Given the description of an element on the screen output the (x, y) to click on. 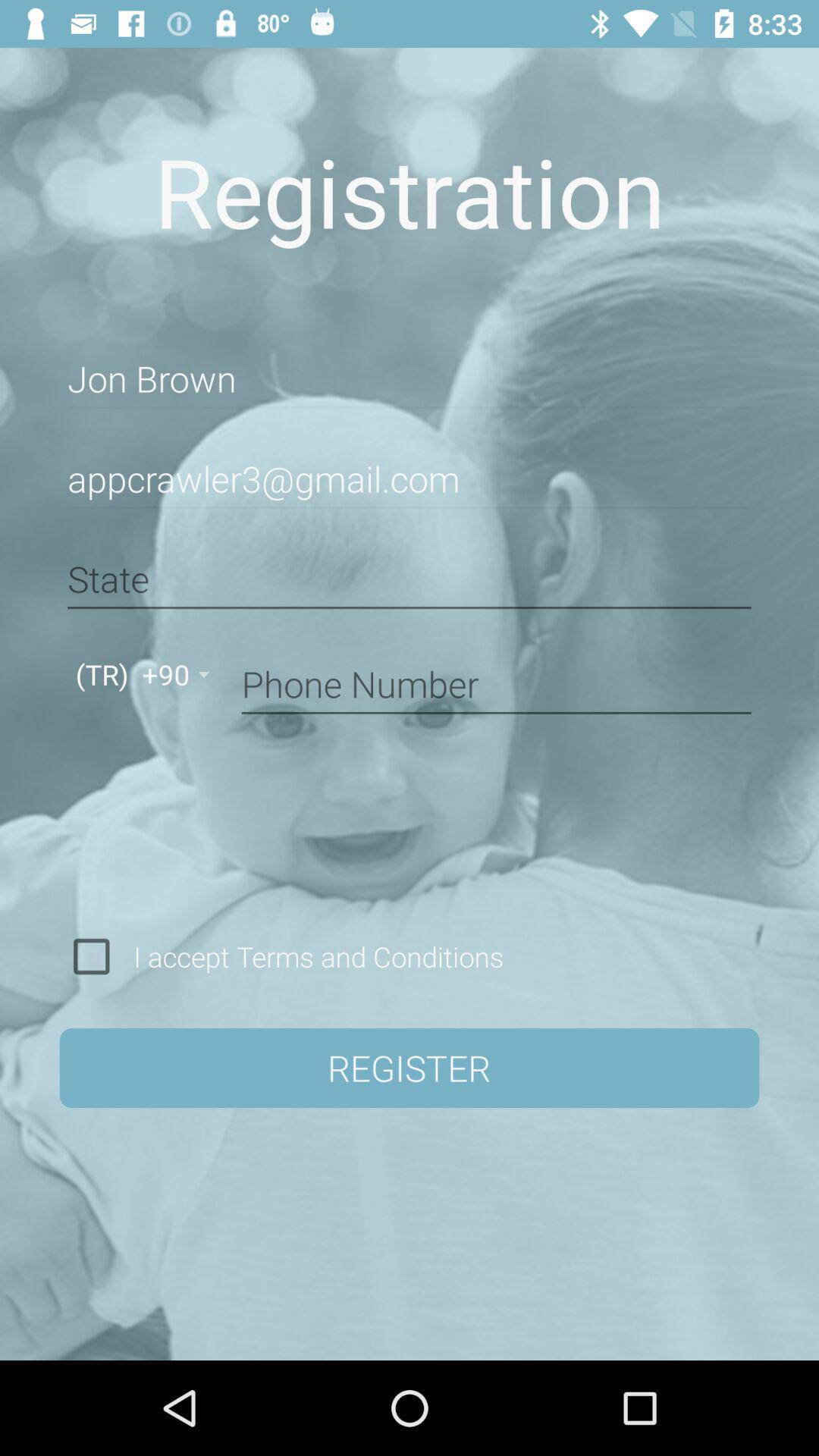
enter state (409, 579)
